Given the description of an element on the screen output the (x, y) to click on. 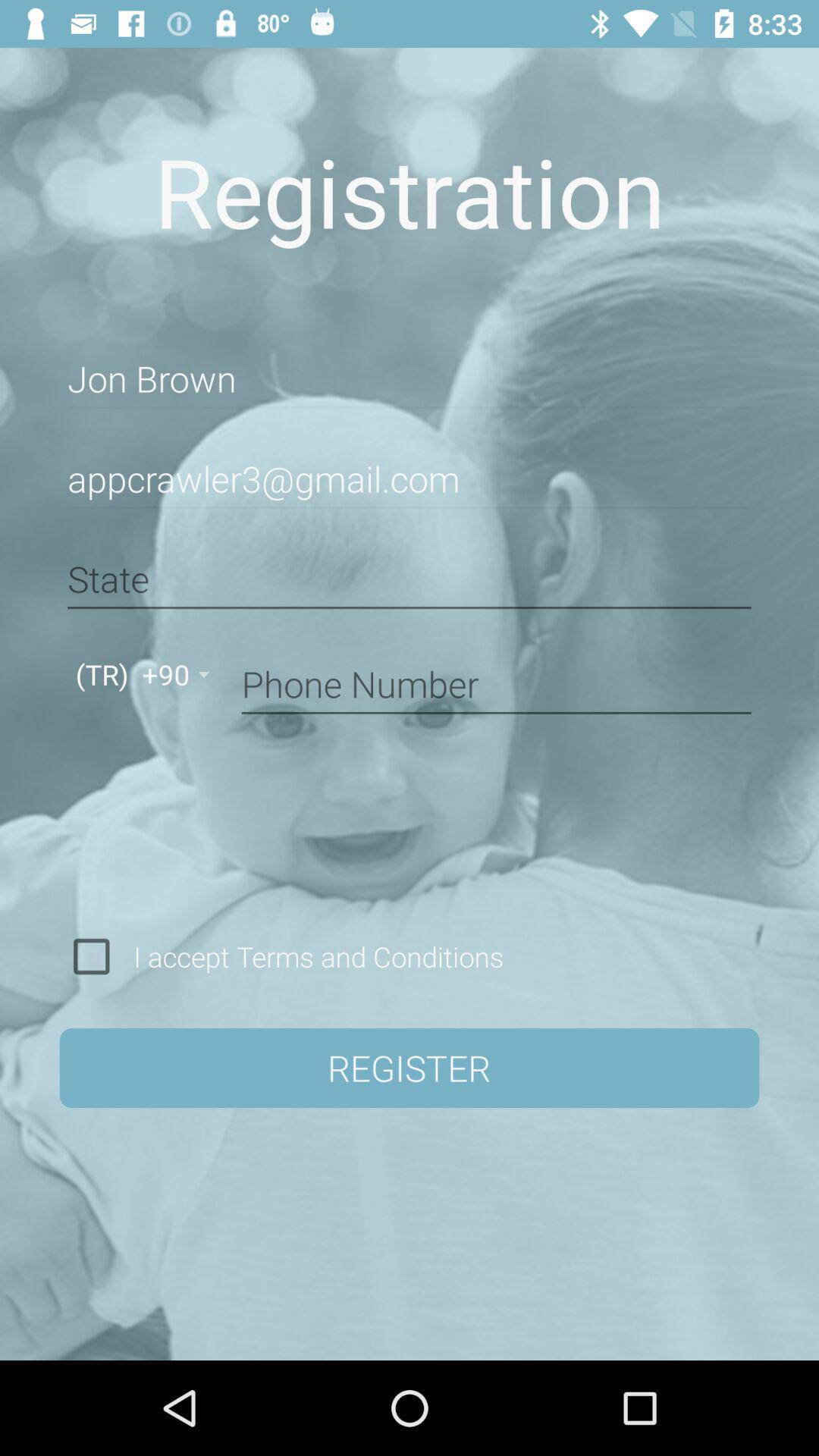
enter state (409, 579)
